Given the description of an element on the screen output the (x, y) to click on. 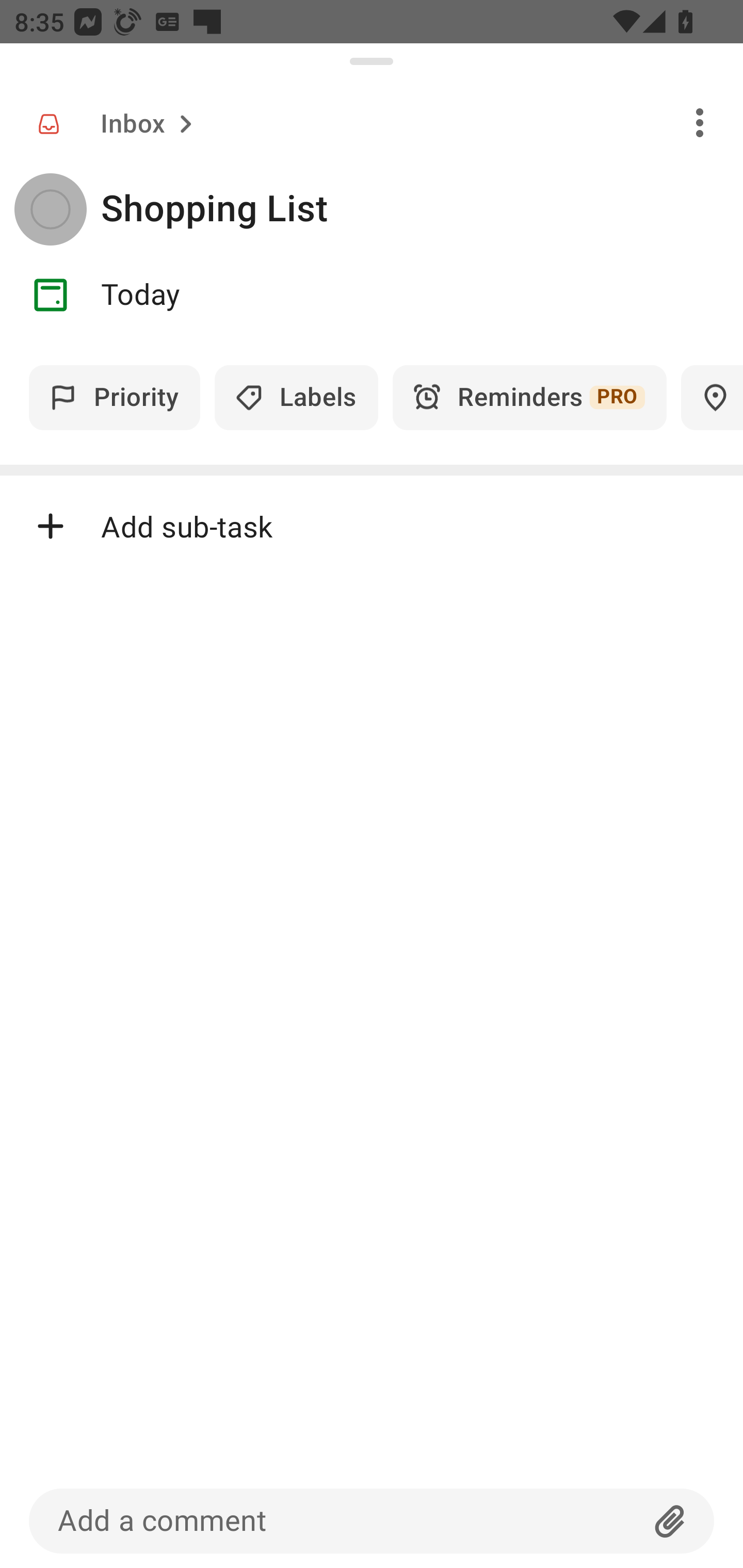
Overflow menu (699, 122)
Complete (50, 209)
Shopping List​ (422, 209)
Date Today (371, 295)
Priority (113, 397)
Labels (296, 397)
Reminders PRO (529, 397)
Locations PRO (712, 397)
Add sub-task (371, 525)
Add a comment Attachment (371, 1520)
Attachment (670, 1520)
